Given the description of an element on the screen output the (x, y) to click on. 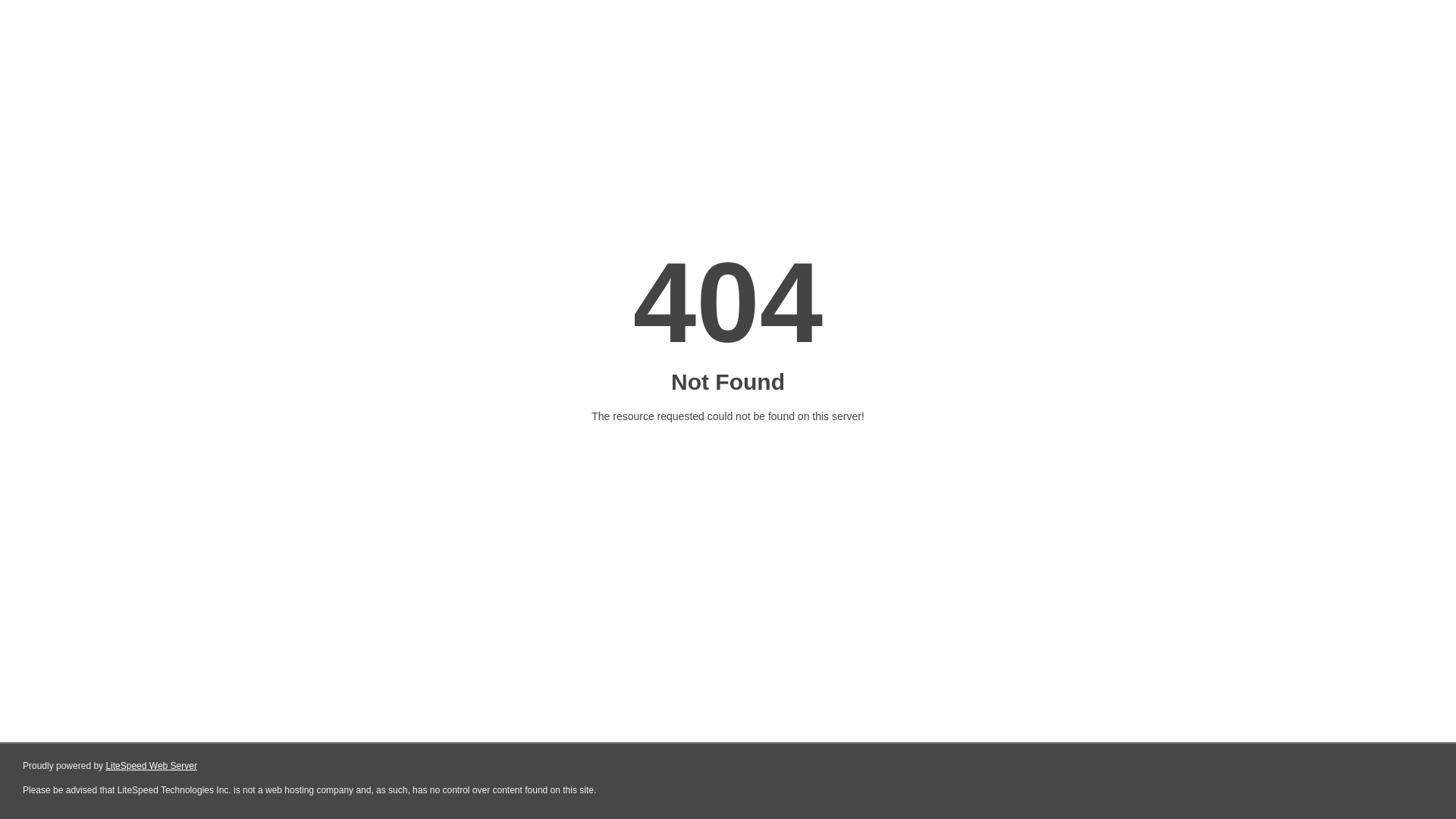
LiteSpeed Web Server Element type: text (151, 765)
